Given the description of an element on the screen output the (x, y) to click on. 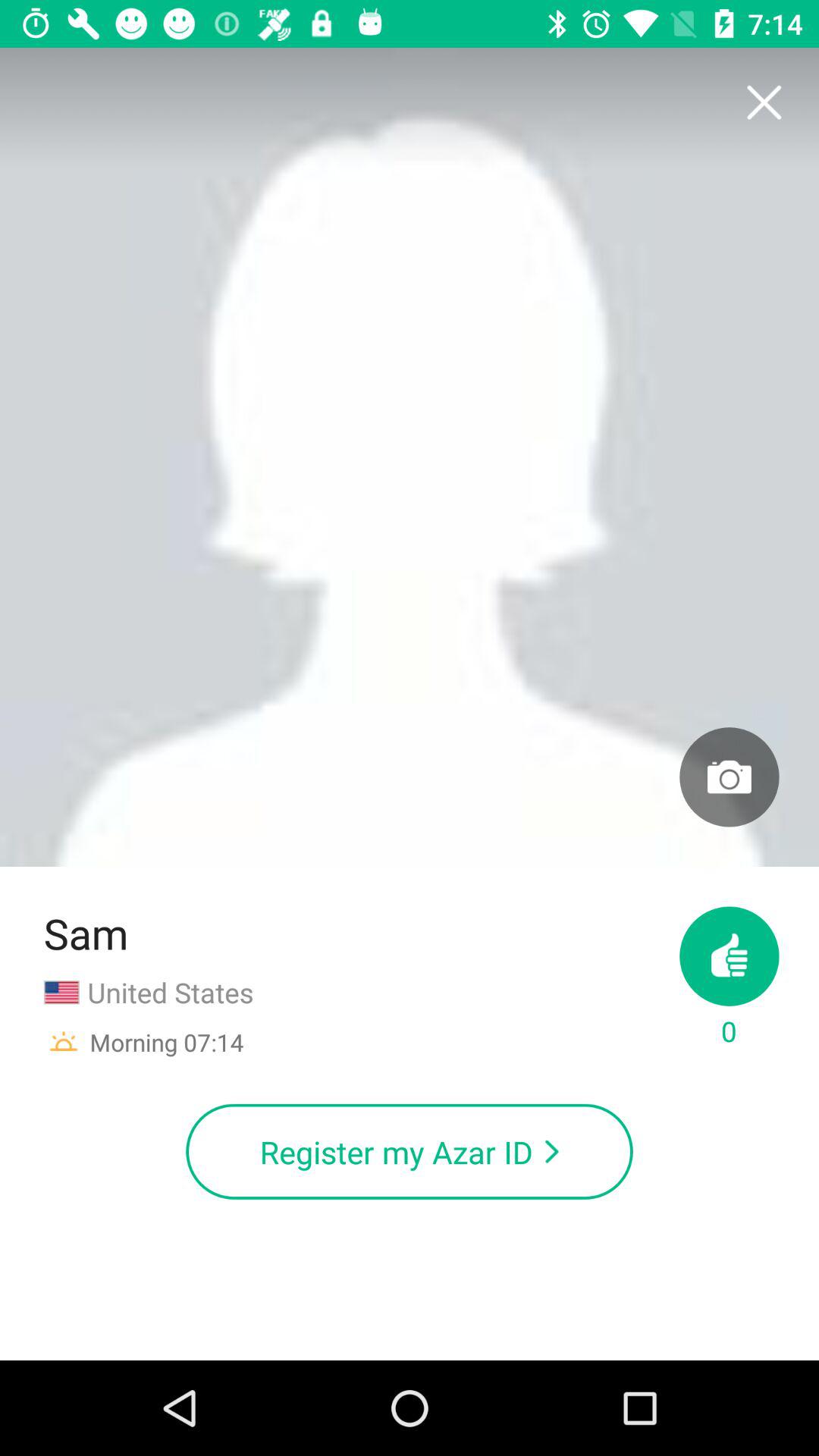
click item on the right (729, 776)
